Given the description of an element on the screen output the (x, y) to click on. 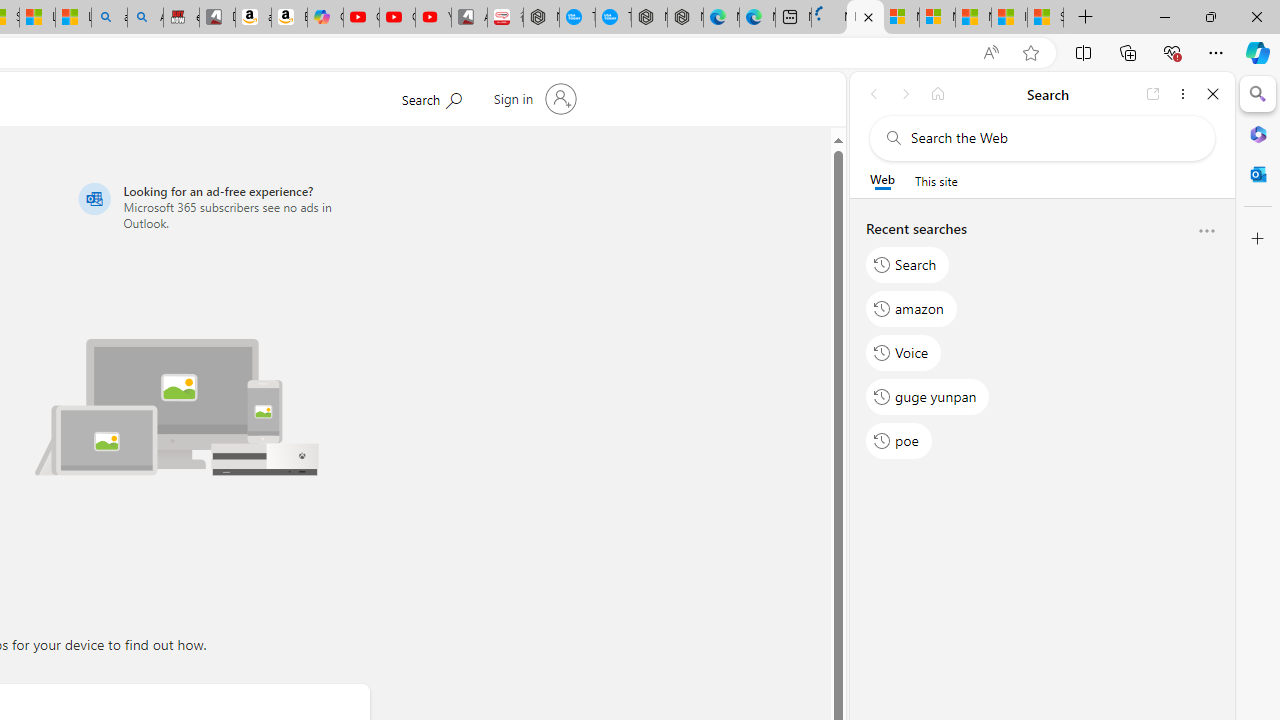
Microsoft 365 (1258, 133)
Recent searchesSearchamazonVoiceguge yunpanpoe (1042, 342)
Microsoft account | Privacy (937, 17)
This site scope (936, 180)
All Cubot phones (469, 17)
Open link in new tab (1153, 93)
